Given the description of an element on the screen output the (x, y) to click on. 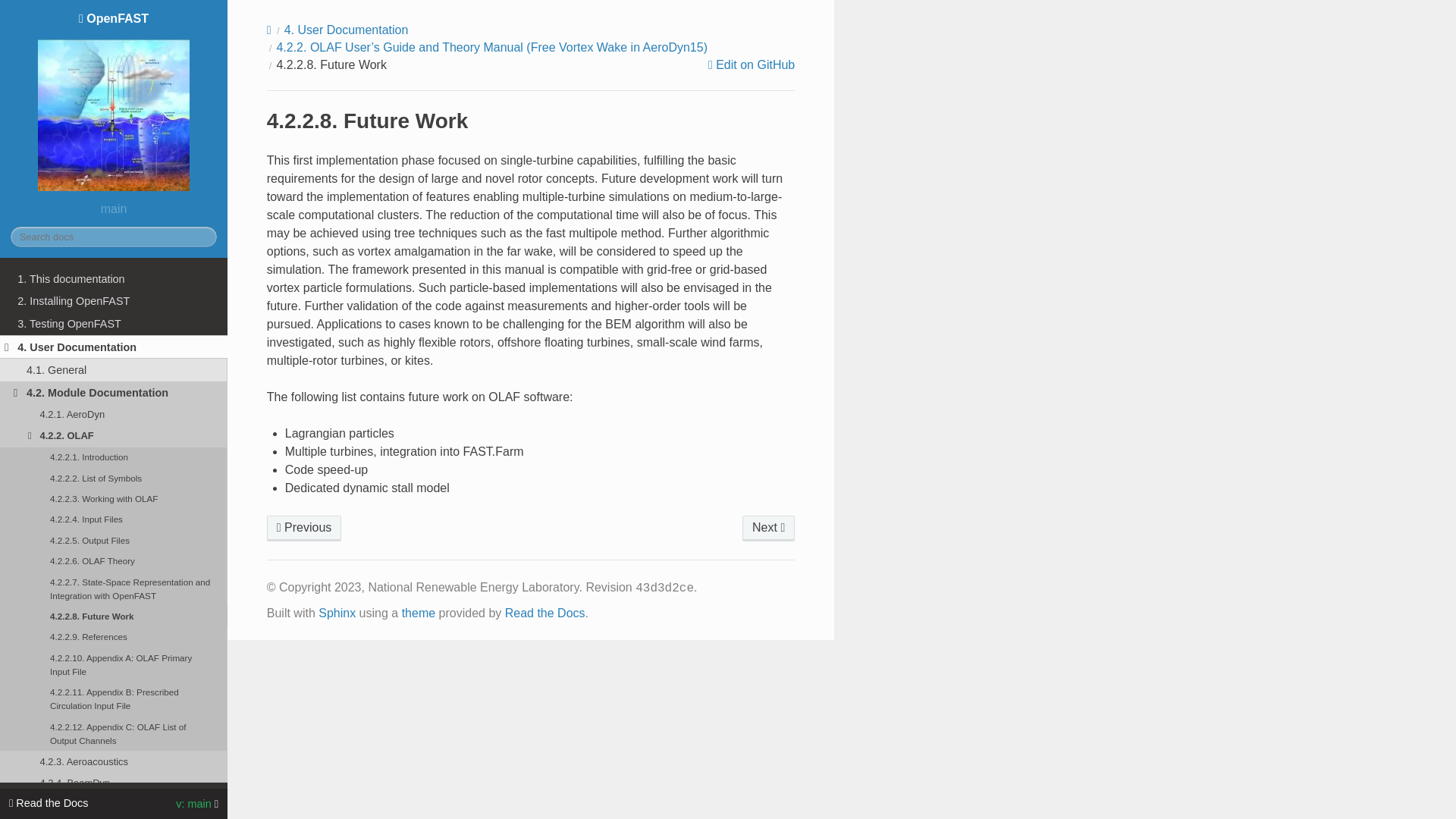
OpenFAST (113, 103)
4.2.2.11. Appendix B: Prescribed Circulation Input File (113, 699)
4. User Documentation (113, 346)
4.1. General (113, 369)
4.2.4. BeamDyn (113, 783)
4.2.2. OLAF (113, 435)
4.2.2.8. Future Work (113, 616)
4.2.2.10. Appendix A: OLAF Primary Input File (113, 664)
4.2.1. AeroDyn (113, 414)
